Given the description of an element on the screen output the (x, y) to click on. 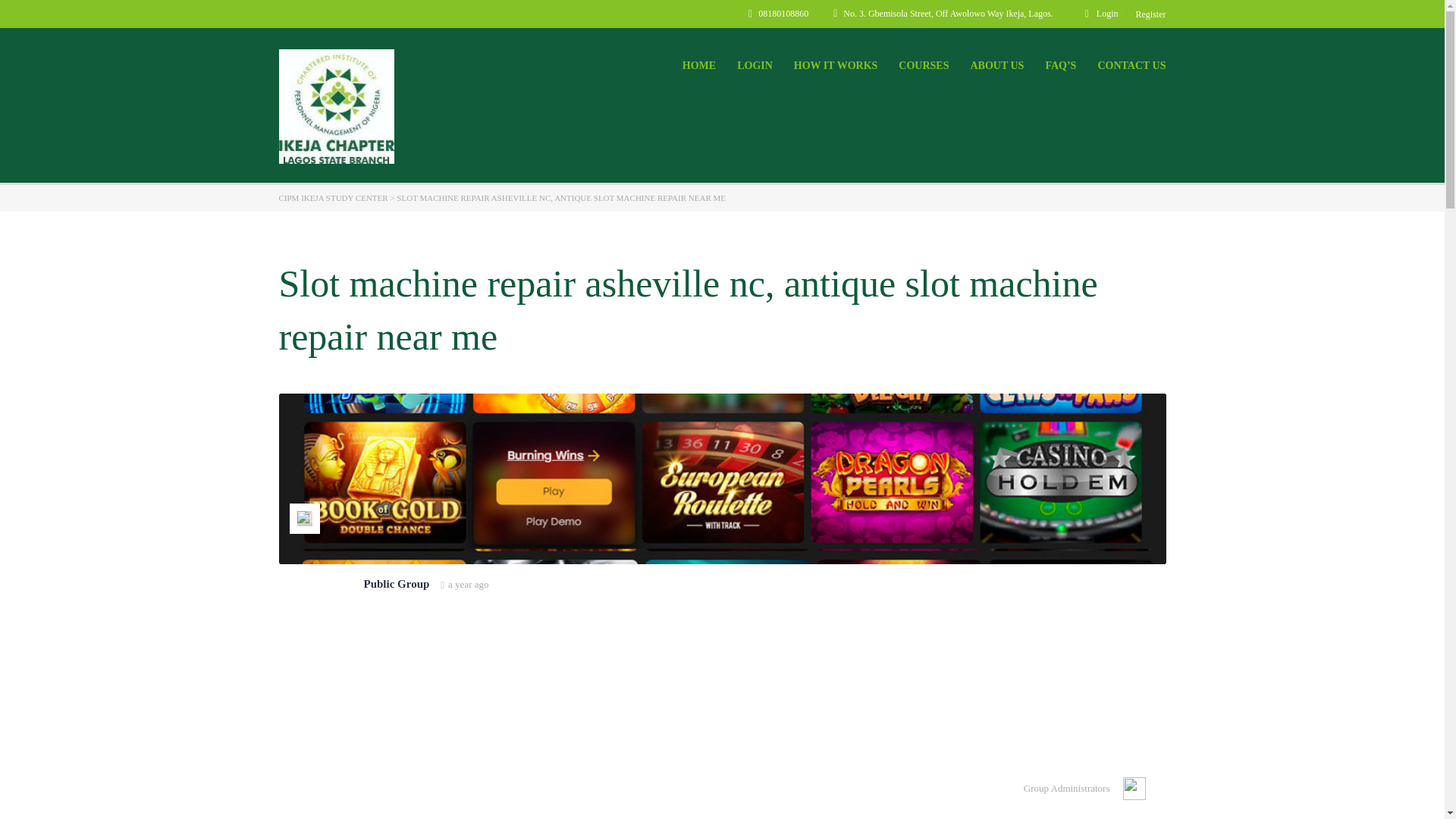
CIPM IKEJA STUDY CENTER (333, 197)
LOGIN (754, 65)
ABOUT US (996, 65)
HOW IT WORKS (835, 65)
Register (1150, 13)
Login (1101, 13)
Go to CIPM Ikeja Study Center. (333, 197)
CONTACT US (1131, 65)
HOME (699, 65)
COURSES (923, 65)
